Given the description of an element on the screen output the (x, y) to click on. 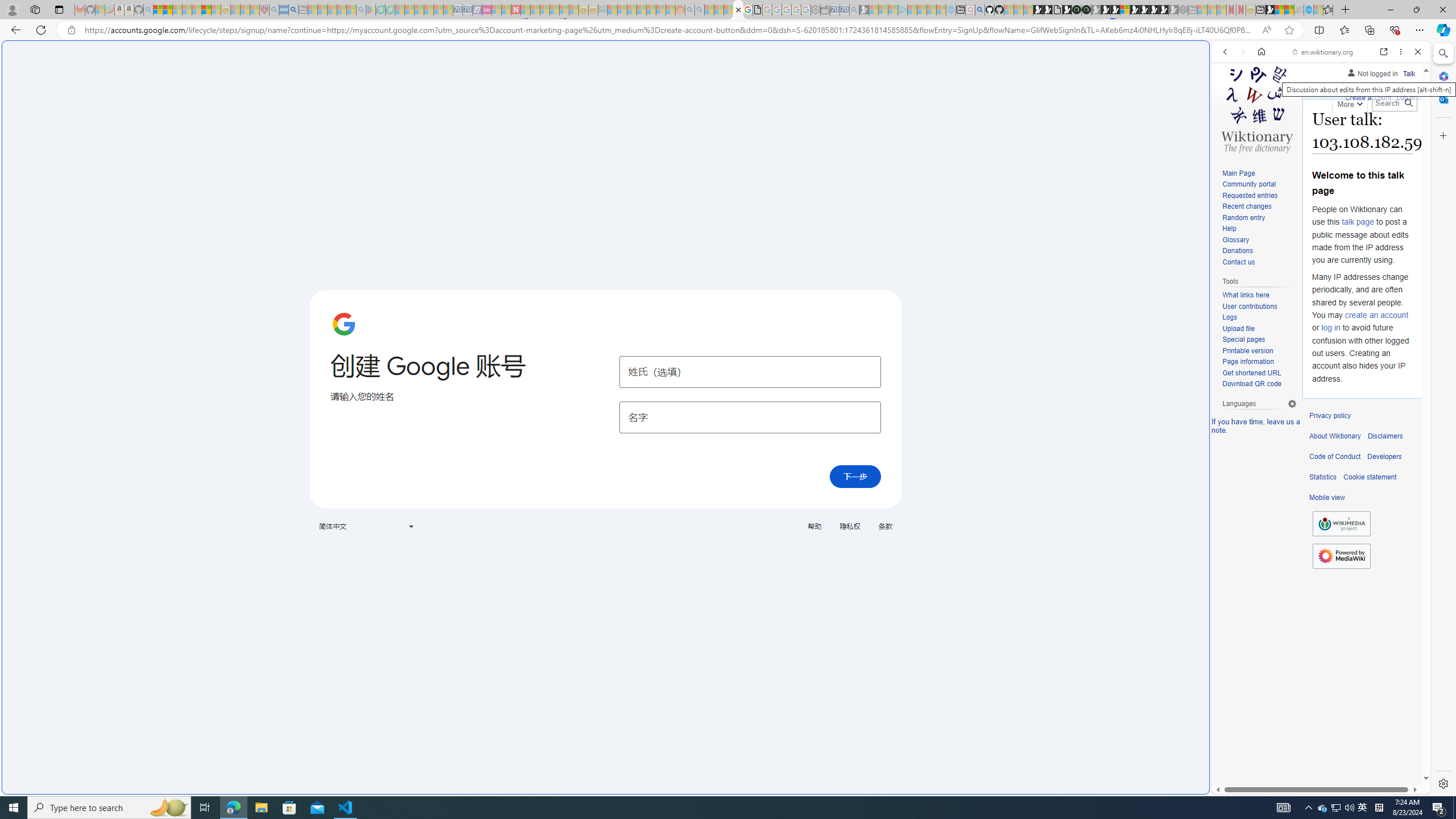
Community portal (1248, 184)
AutomationID: footer-poweredbyico (1341, 555)
Page information (1259, 361)
Glossary (1235, 239)
Powered by MediaWiki (1341, 555)
